Given the description of an element on the screen output the (x, y) to click on. 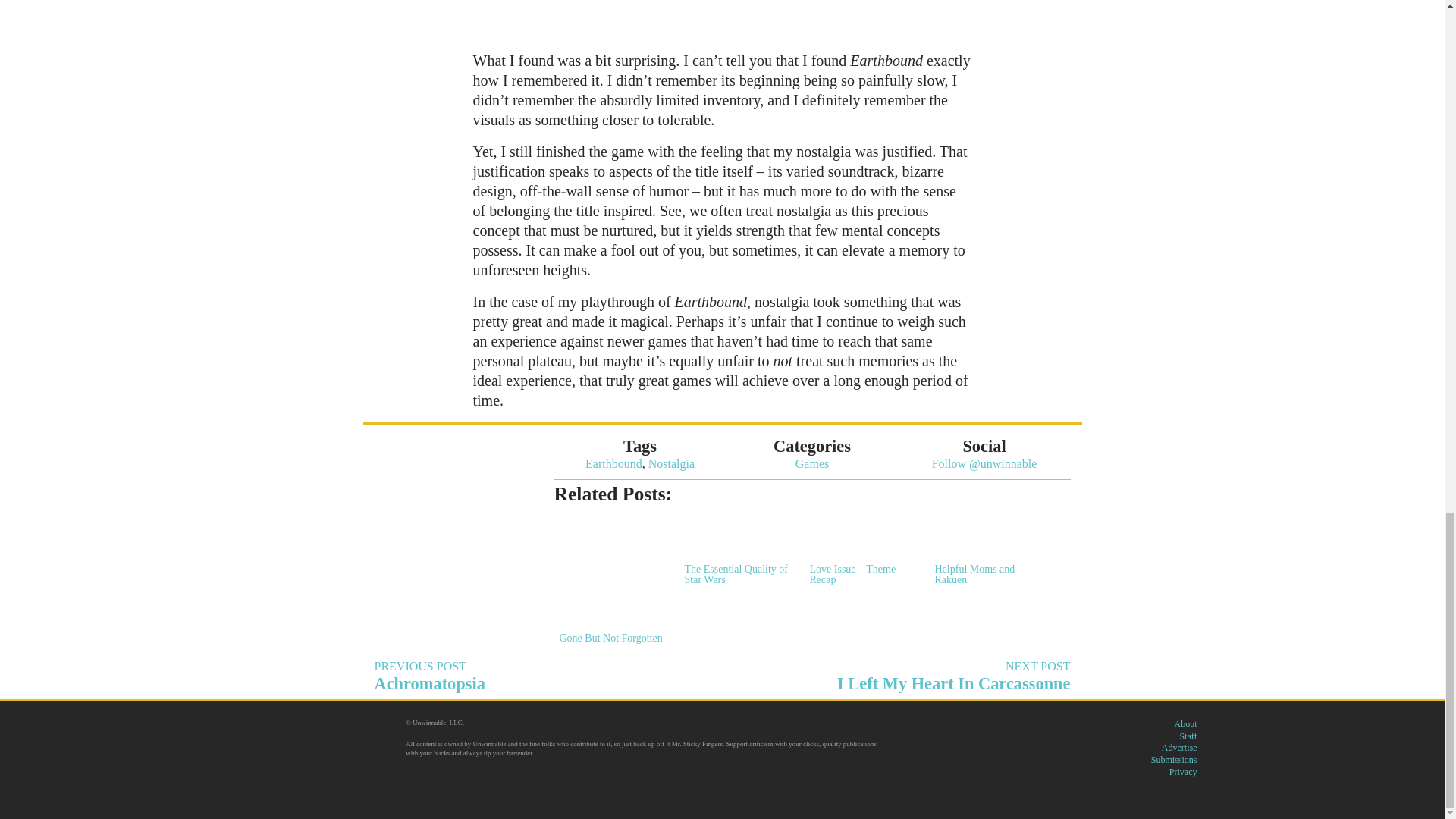
Nostalgia (901, 675)
Submissions (670, 463)
About (1173, 759)
The Essential Quality of Star Wars (1184, 724)
Staff (738, 549)
Helpful Moms and Rakuen (1187, 736)
Advertise (989, 549)
Privacy (1178, 747)
The Essential Quality of Star Wars (1182, 771)
Earthbound (738, 549)
Helpful Moms and Rakuen (613, 463)
Games (542, 675)
